Given the description of an element on the screen output the (x, y) to click on. 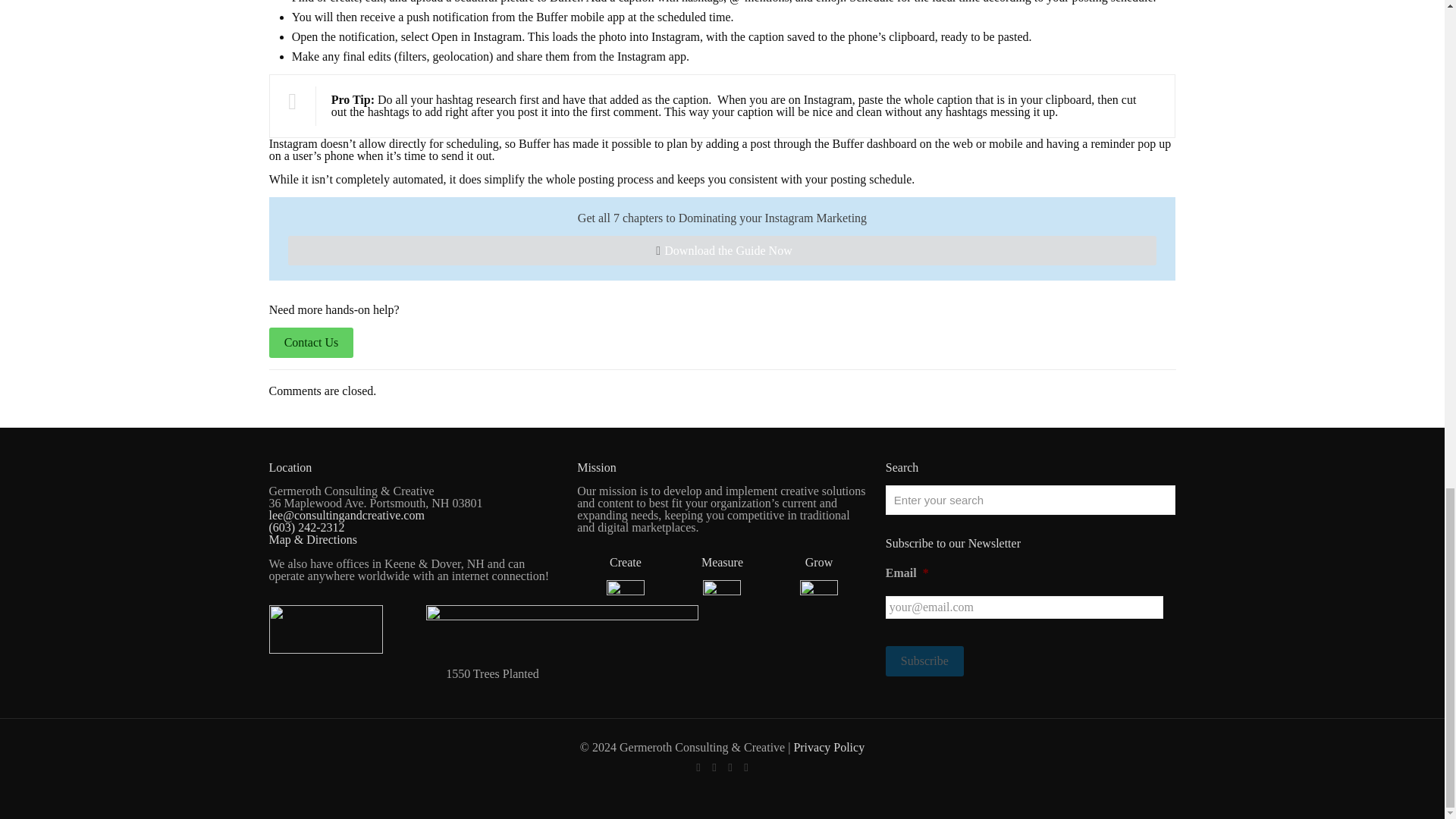
Privacy Policy (828, 747)
LinkedIn (730, 767)
Measure (721, 562)
Contact Us (311, 342)
Subscribe (924, 660)
Instagram (745, 767)
Grow (818, 562)
Facebook (698, 767)
Subscribe (924, 660)
Create (626, 562)
